Given the description of an element on the screen output the (x, y) to click on. 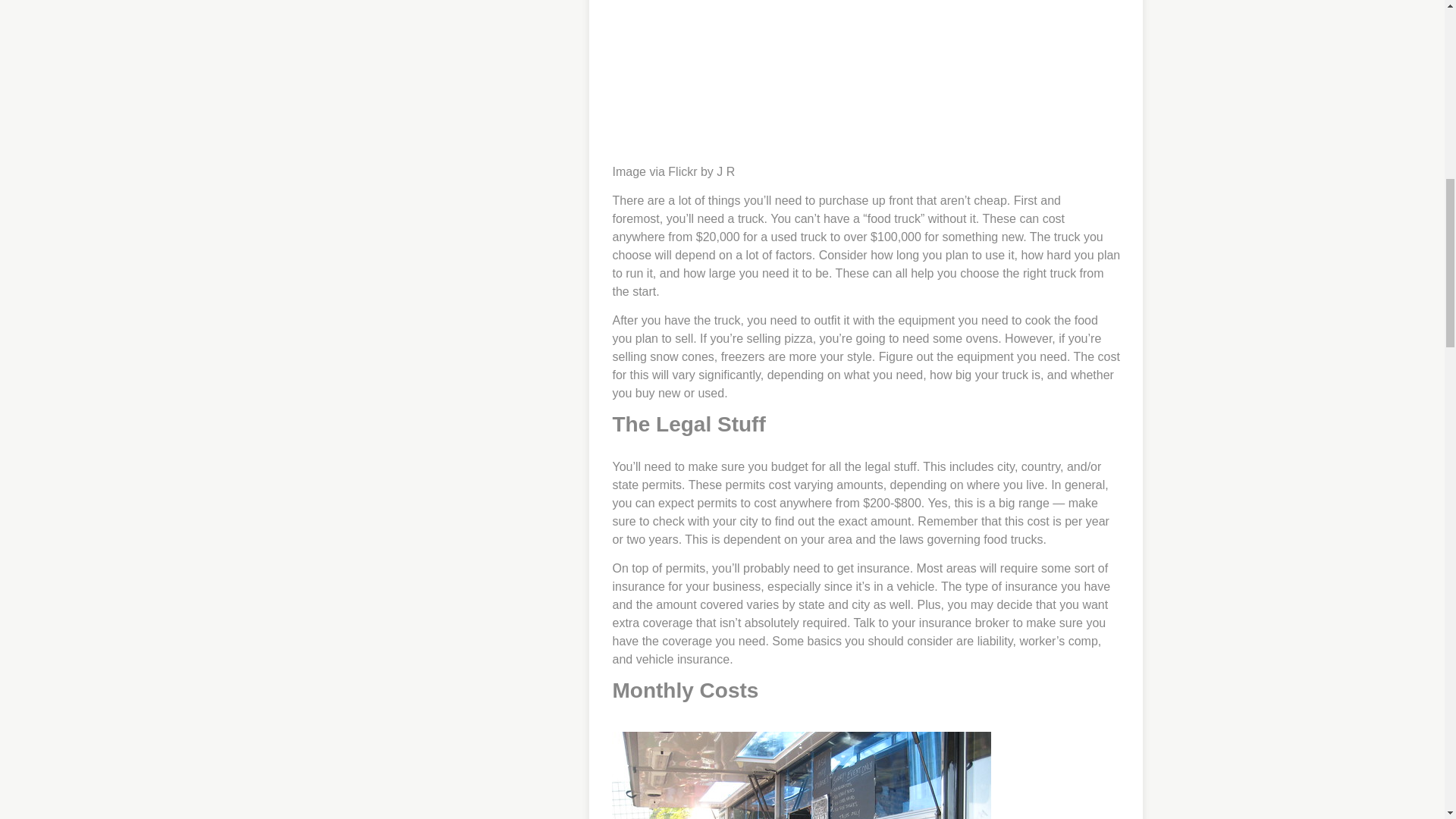
Flickr (682, 171)
